Given the description of an element on the screen output the (x, y) to click on. 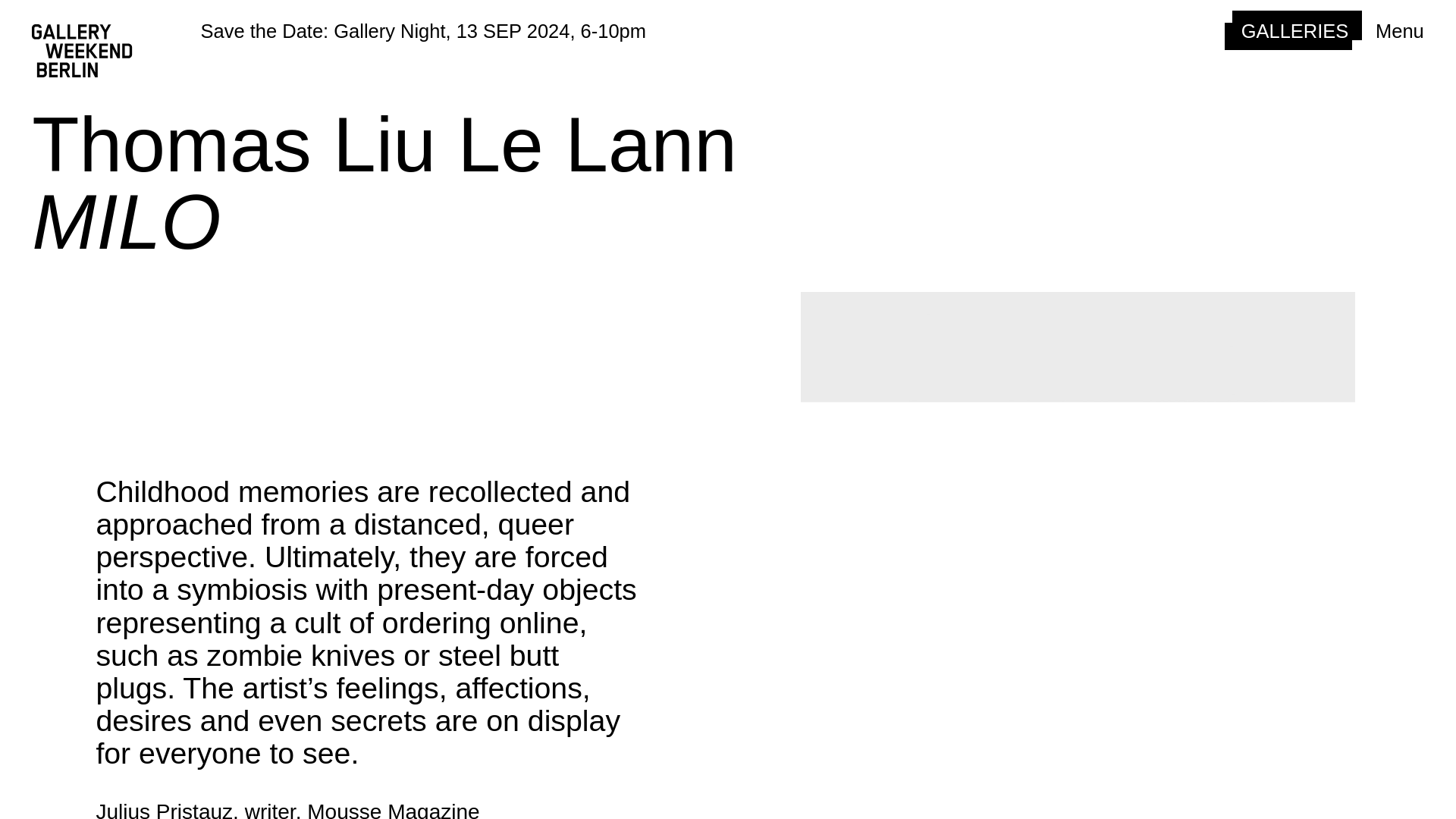
GALLERIES (1292, 29)
Page 1 (370, 809)
